Given the description of an element on the screen output the (x, y) to click on. 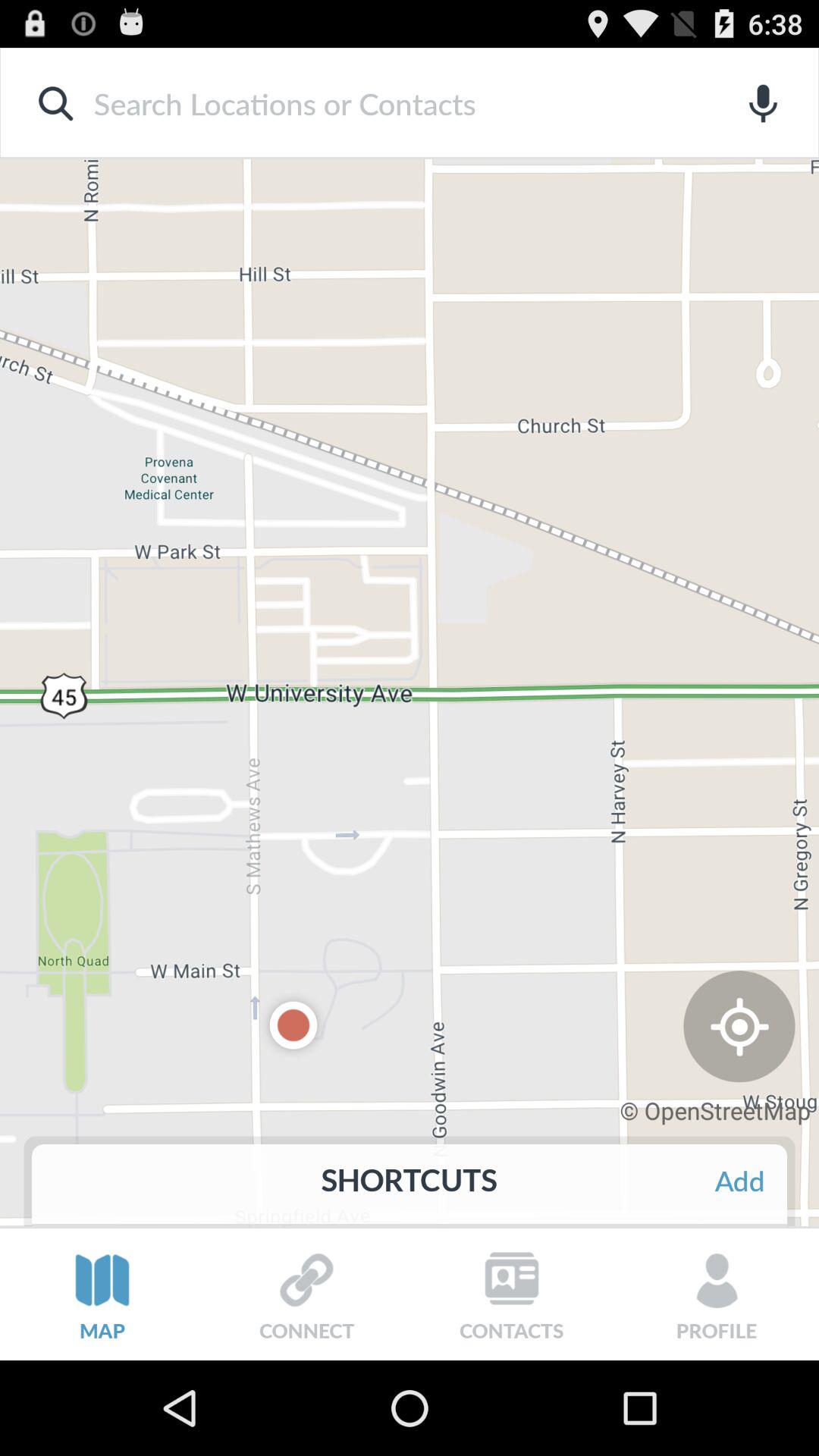
search the location or contacts (385, 103)
